Given the description of an element on the screen output the (x, y) to click on. 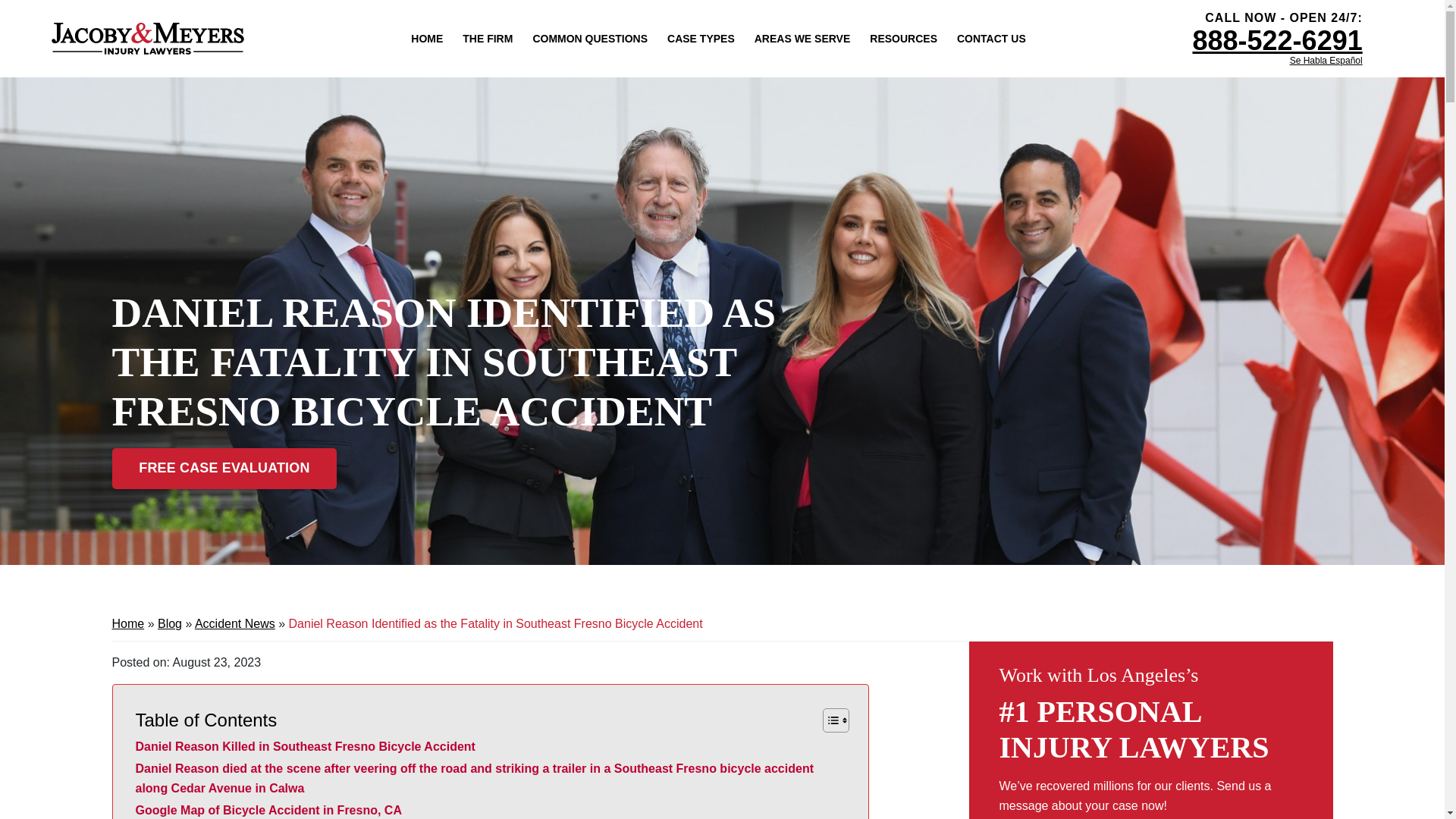
FREE CASE EVALUATION (224, 467)
HOME (426, 38)
888-522-6291 (1276, 40)
AREAS WE SERVE (802, 38)
RESOURCES (903, 38)
Daniel Reason Killed in Southeast Fresno Bicycle Accident (304, 746)
COMMON QUESTIONS (589, 38)
CASE TYPES (701, 38)
